Given the description of an element on the screen output the (x, y) to click on. 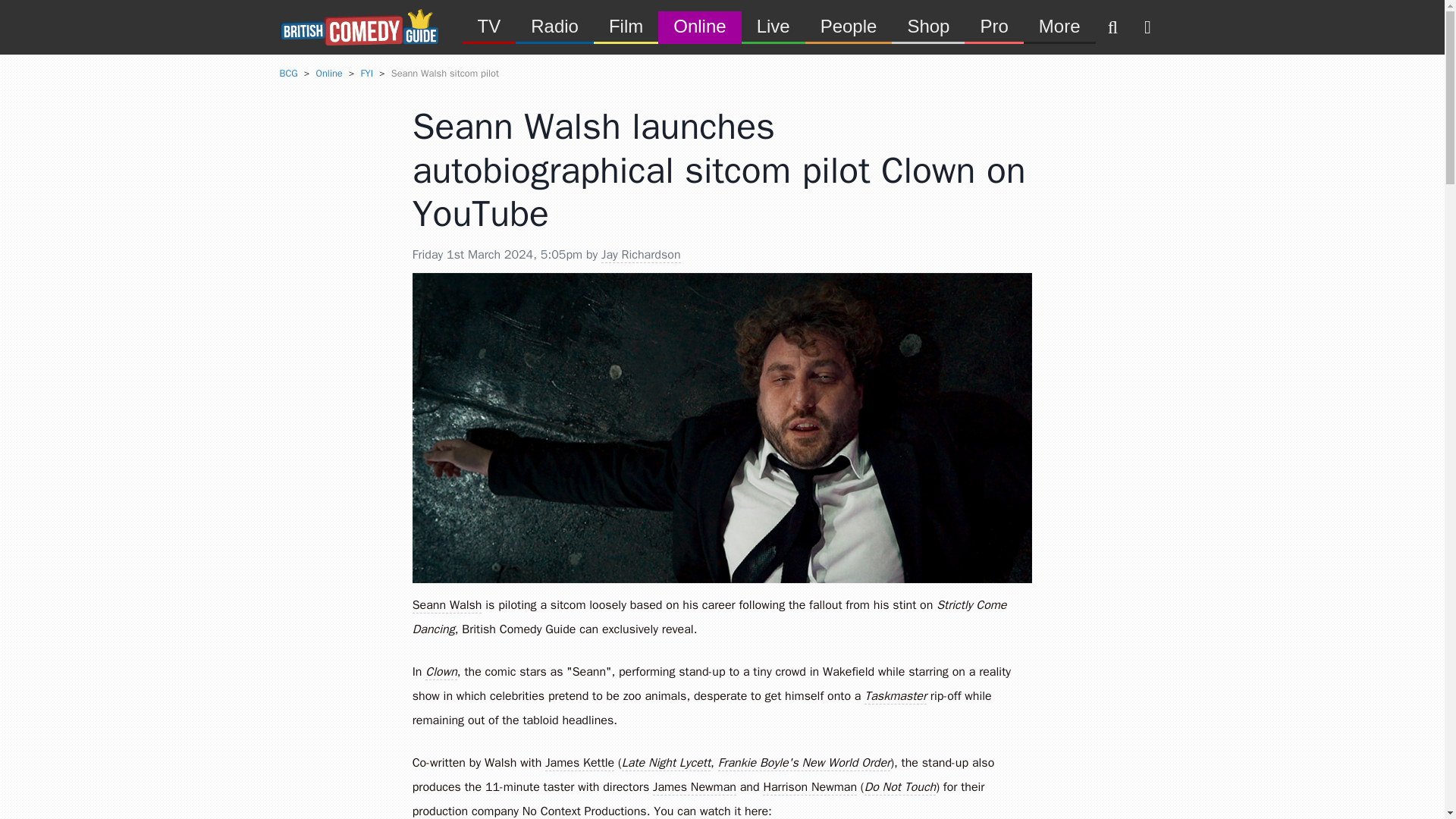
Taskmaster (895, 696)
Online (699, 25)
Live (773, 25)
FYI (365, 73)
James Newman profile (694, 787)
More (1059, 25)
James Kettle (579, 763)
No Context Productions (584, 811)
Pro (993, 25)
Shop (927, 25)
Online (328, 73)
Late Night Lycett (665, 763)
Clown: 2024 YouTube sitcom. Click for a guide. (441, 672)
Jay Richardson (640, 254)
